Given the description of an element on the screen output the (x, y) to click on. 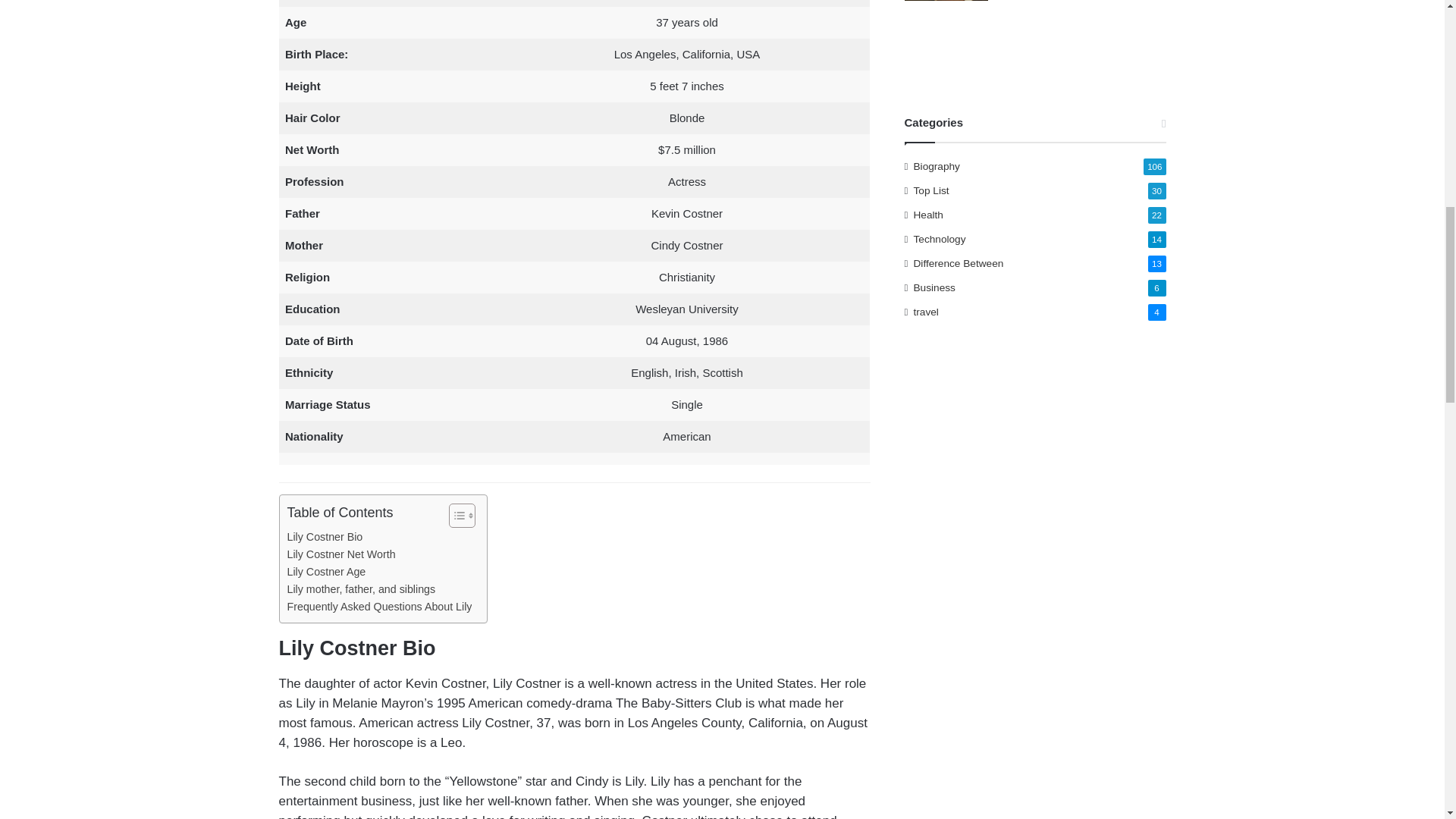
Lily Costner Net Worth (340, 554)
Lily Costner Age (325, 571)
Frequently Asked Questions About Lily (378, 606)
Lily Costner Bio (324, 537)
Lily Costner Bio (324, 537)
Lily mother, father, and siblings (360, 589)
